Given the description of an element on the screen output the (x, y) to click on. 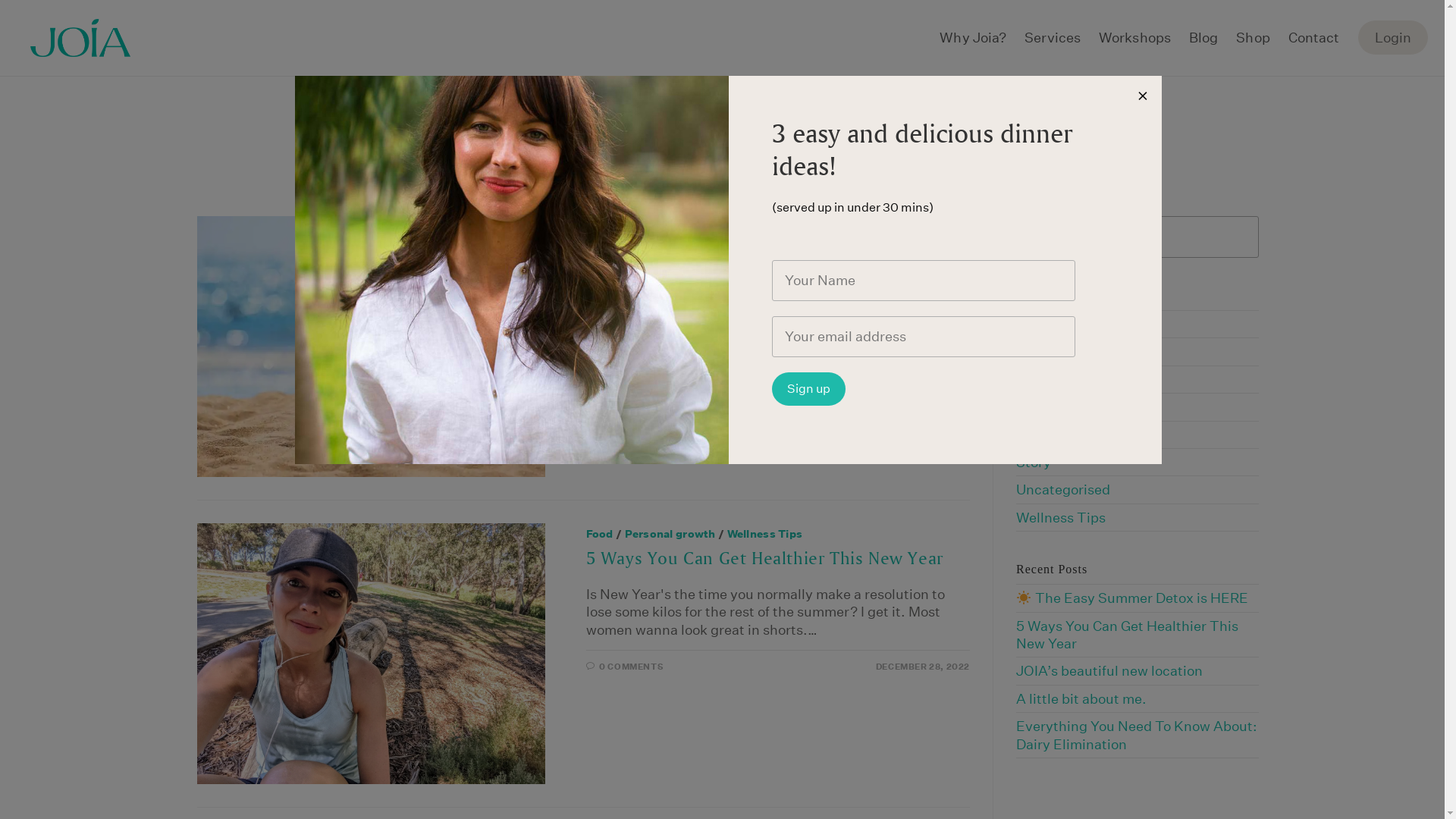
Wellness Tips Element type: text (1060, 517)
Food Element type: text (599, 533)
Everything You Need To Know About: Dairy Elimination Element type: text (1136, 734)
Shop Element type: text (1252, 37)
Story Element type: text (1033, 462)
5 Ways You Can Get Healthier This New Year Element type: text (1127, 634)
Sign up Element type: text (808, 388)
Home Element type: text (691, 135)
Uncategorised Element type: text (1063, 489)
5 Ways You Can Get Healthier This New Year Element type: text (764, 558)
Services Element type: text (1052, 37)
Food Element type: text (1031, 324)
News Element type: text (601, 226)
The Easy Summer Detox is HERE Element type: text (1132, 597)
Services Element type: text (716, 226)
Wellness Tips Element type: text (765, 533)
Blog Element type: text (1202, 37)
Tori Vallen Element type: text (752, 135)
Contact Element type: text (1314, 37)
0 COMMENTS Element type: text (630, 666)
News Element type: text (1033, 351)
Personal growth Element type: text (1068, 379)
Why Joia? Element type: text (972, 37)
Services Element type: text (1043, 434)
Personal growth Element type: text (669, 533)
Programs Element type: text (654, 226)
Workshops Element type: text (1134, 37)
Programs Element type: text (1047, 406)
0 COMMENTS Element type: text (630, 360)
A little bit about me. Element type: text (1081, 698)
Login Element type: text (1392, 37)
The Easy Summer Detox is HERE Element type: text (727, 252)
